Given the description of an element on the screen output the (x, y) to click on. 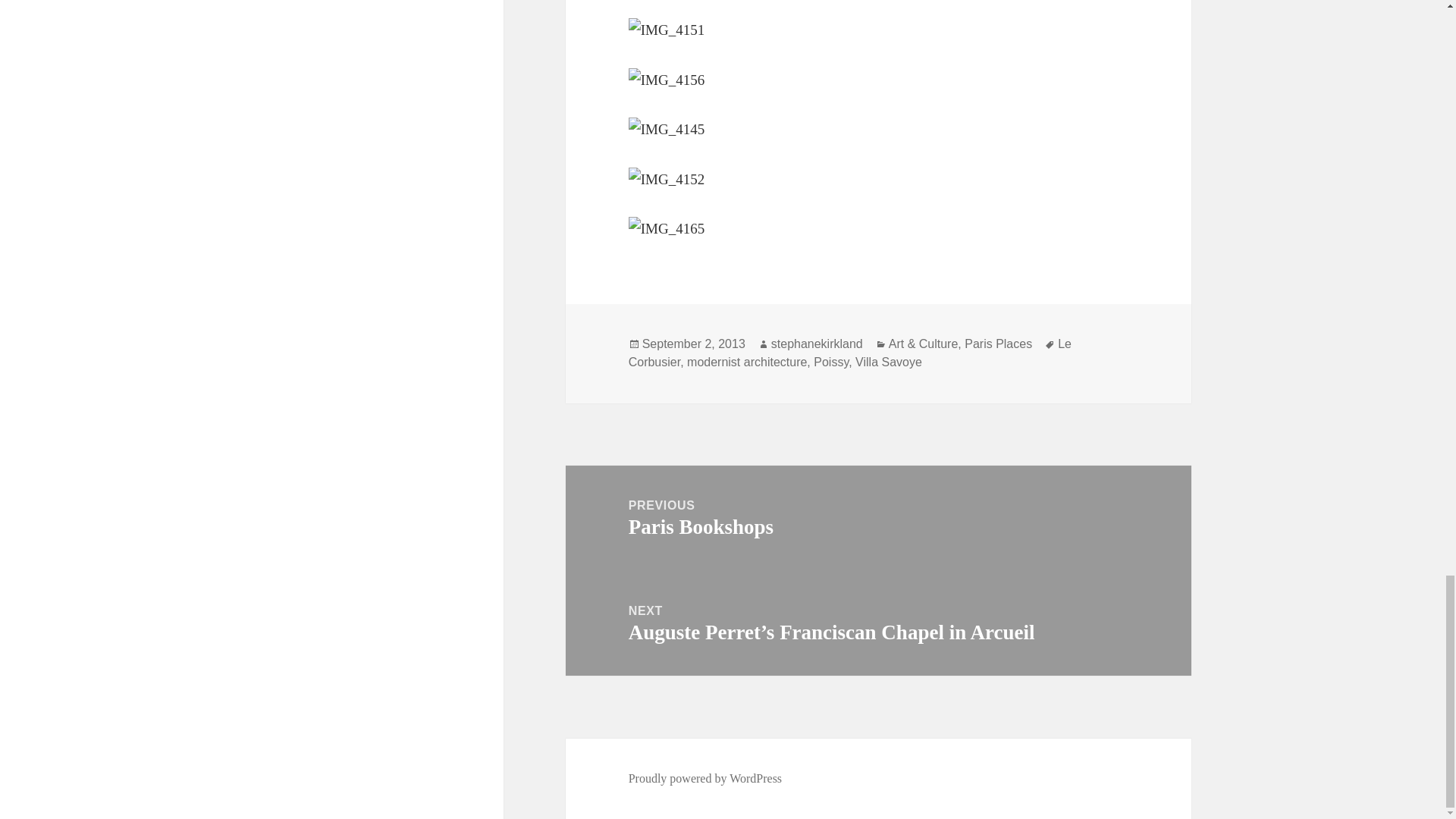
modernist architecture (746, 362)
Le Corbusier (849, 353)
stephanekirkland (817, 344)
Villa Savoye (888, 362)
Proudly powered by WordPress (878, 518)
Poissy (704, 778)
Paris Places (830, 362)
September 2, 2013 (997, 344)
